Given the description of an element on the screen output the (x, y) to click on. 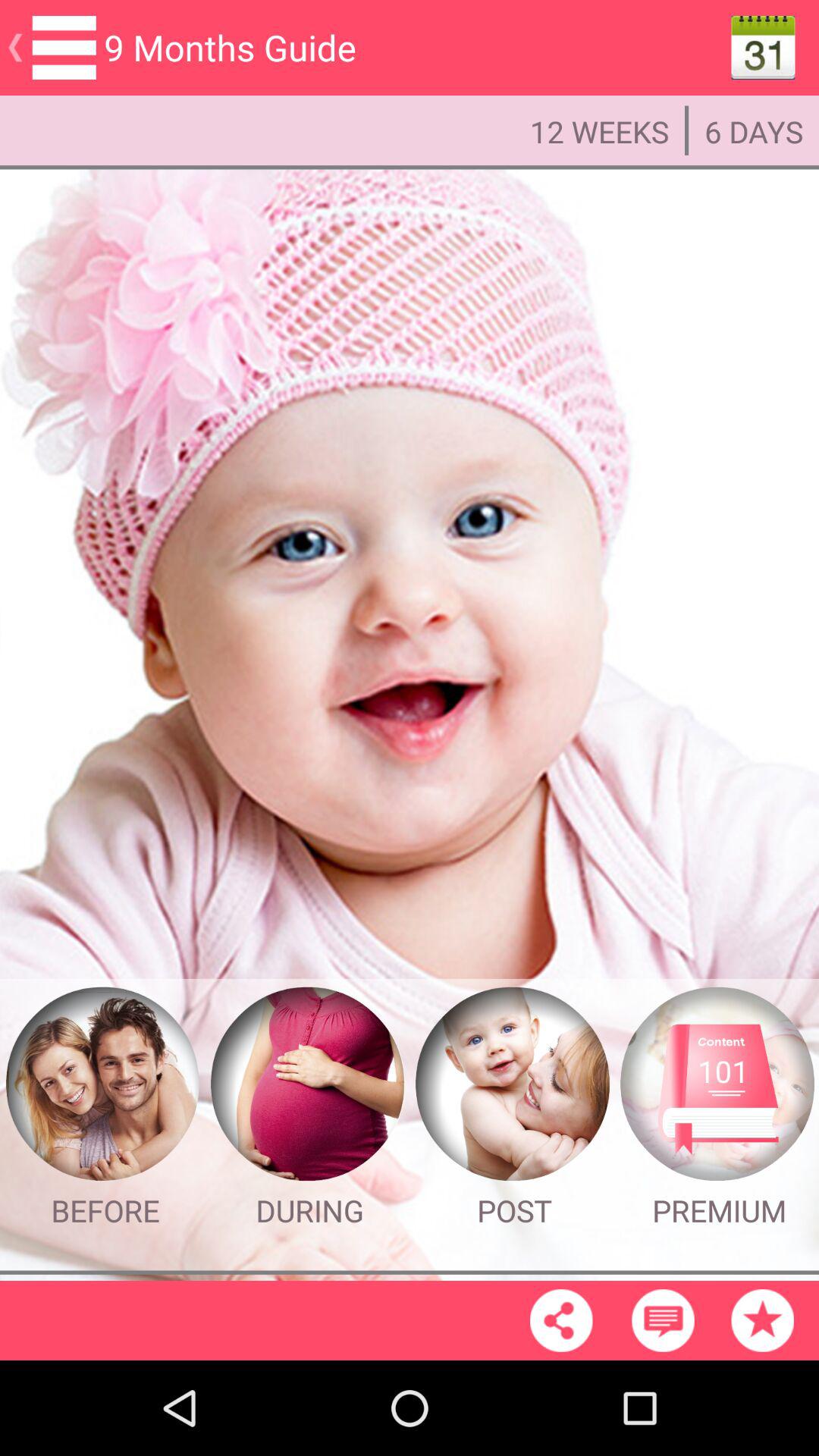
add to favorites (762, 1320)
